Given the description of an element on the screen output the (x, y) to click on. 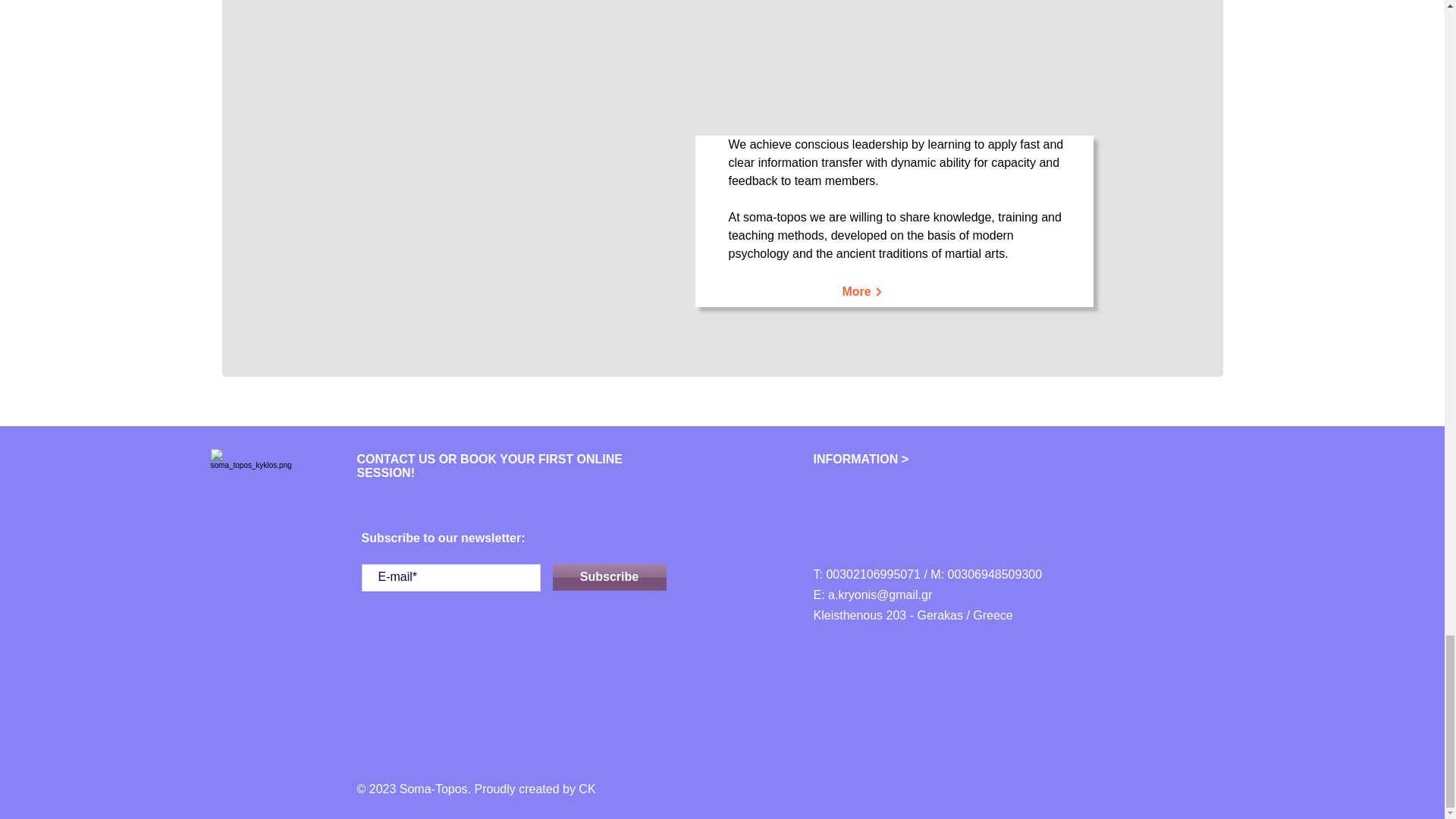
Subscribe (608, 577)
More (862, 291)
